Given the description of an element on the screen output the (x, y) to click on. 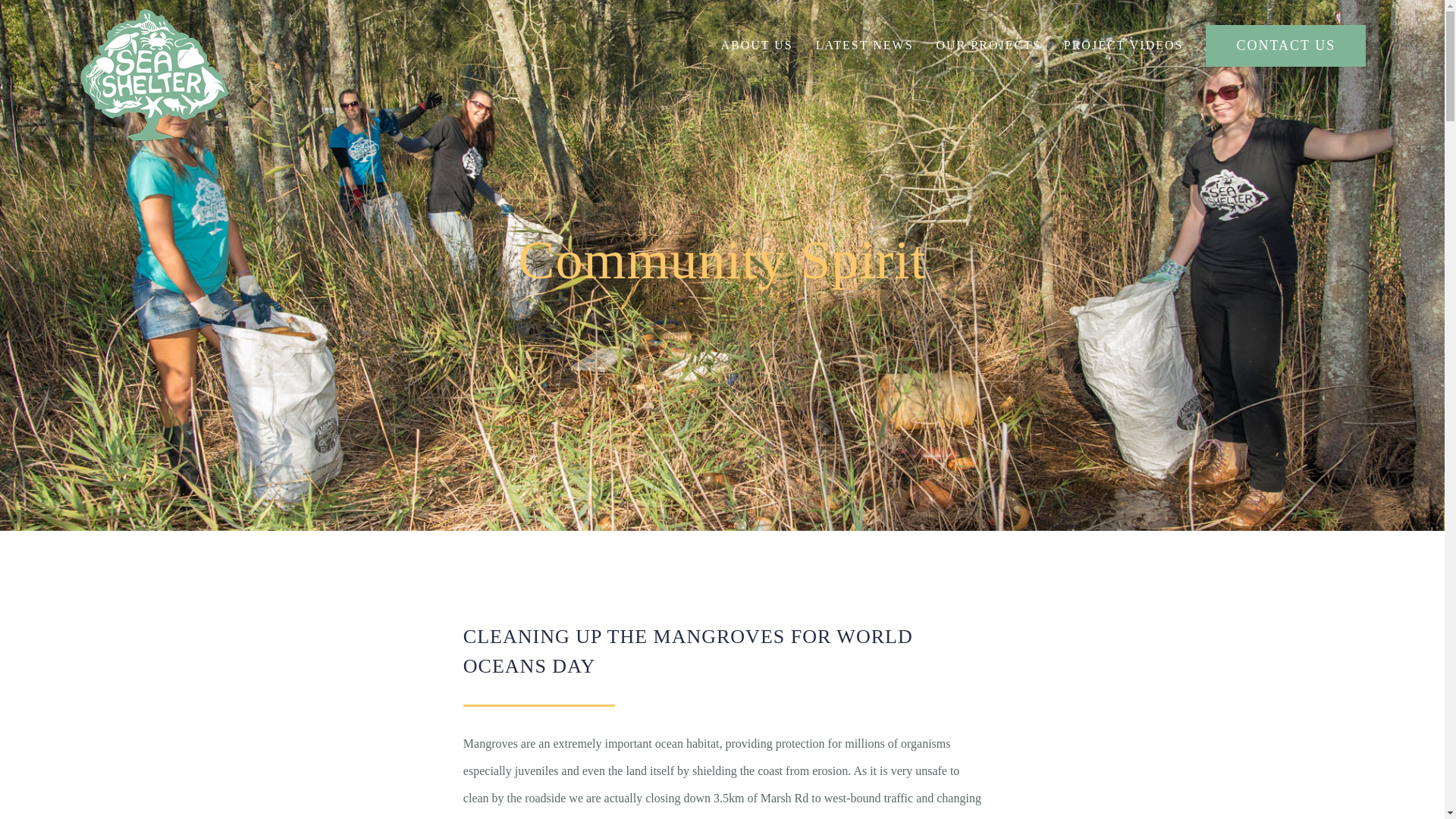
LATEST NEWS (864, 45)
OUR PROJECTS (988, 45)
PROJECT VIDEOS (1123, 45)
CONTACT US (1285, 45)
